Given the description of an element on the screen output the (x, y) to click on. 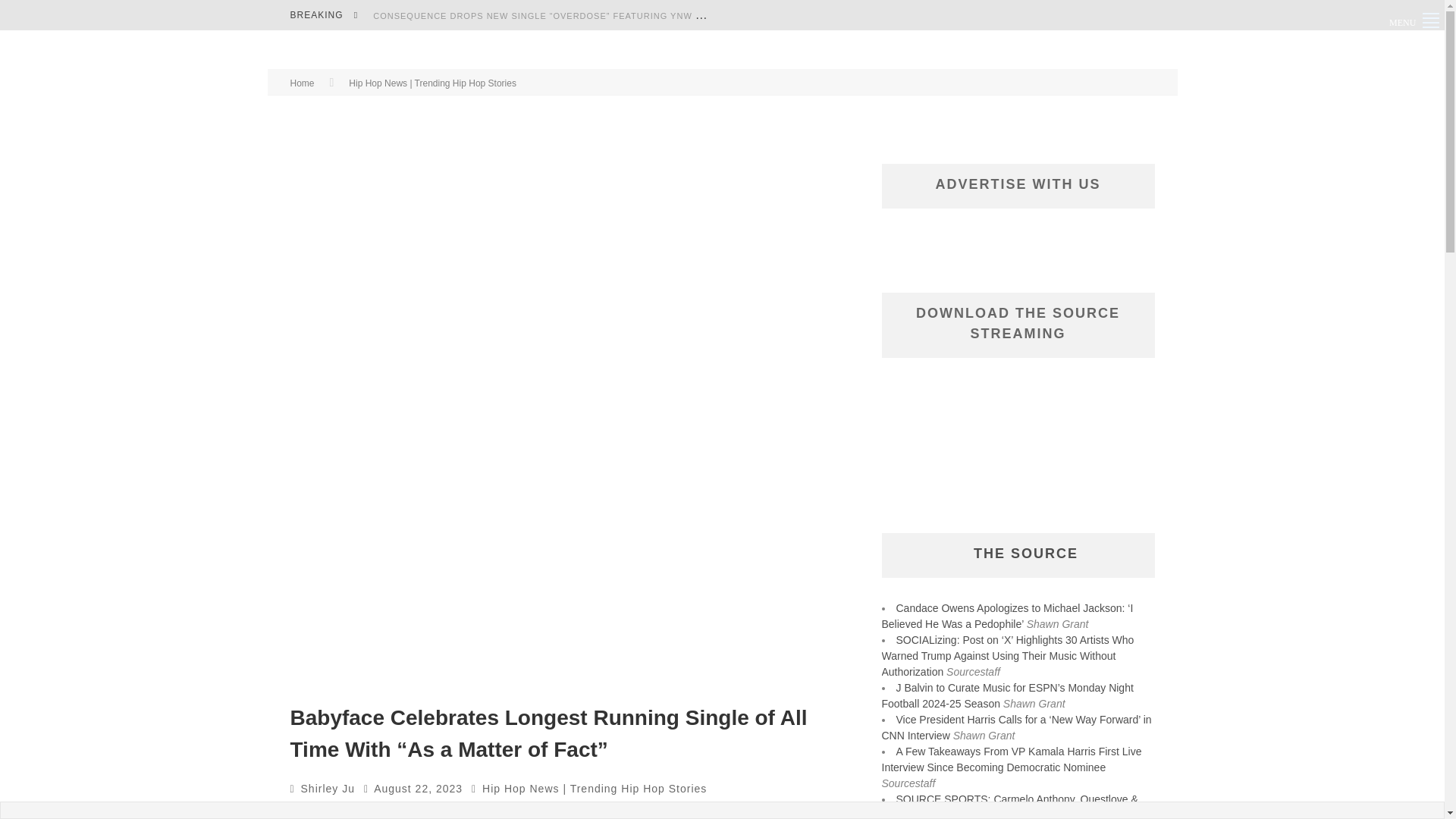
THE SOURCE (1026, 553)
Home (301, 82)
Shirley Ju (328, 788)
